Given the description of an element on the screen output the (x, y) to click on. 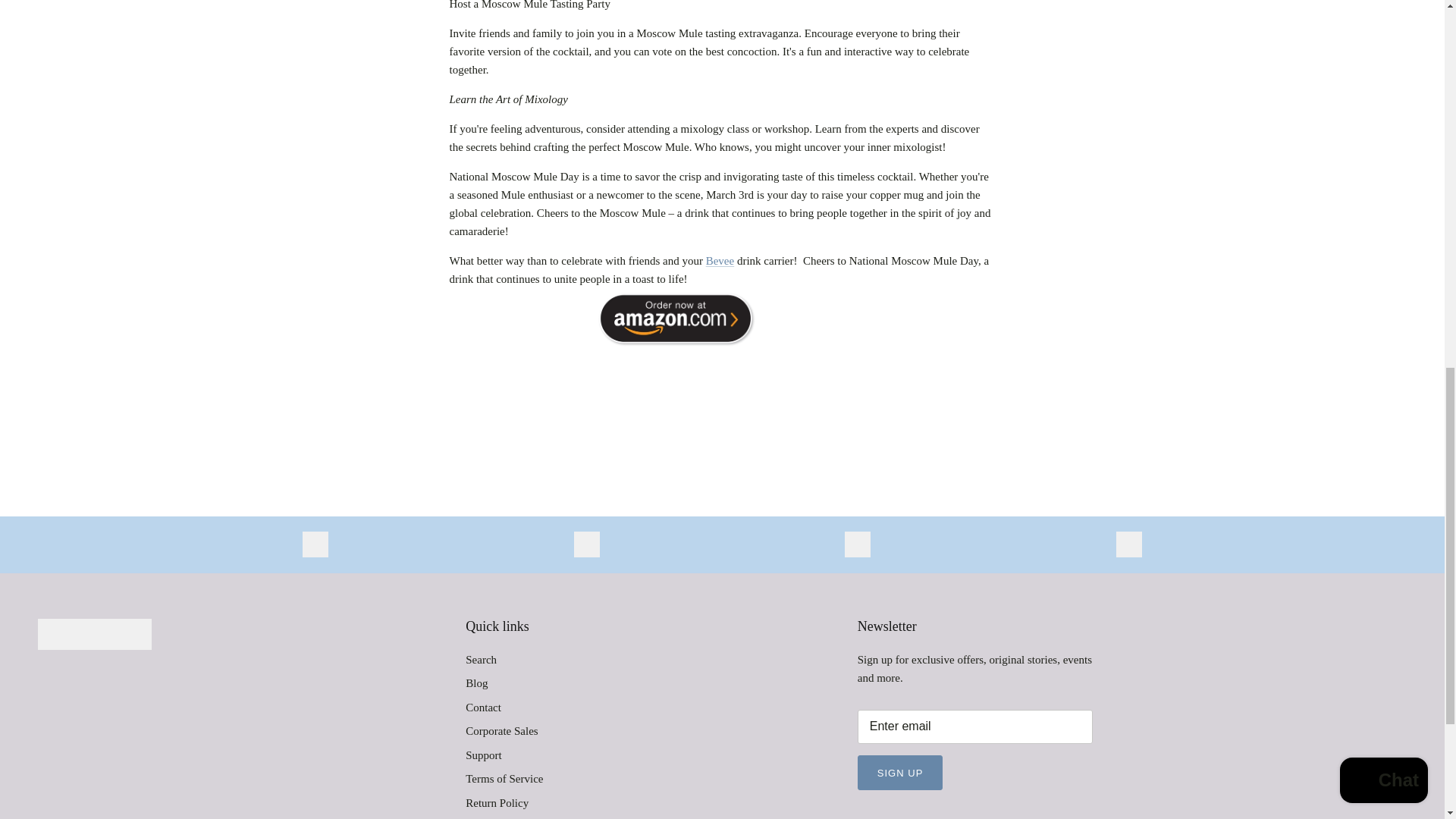
Bevee Amazon (676, 346)
